Given the description of an element on the screen output the (x, y) to click on. 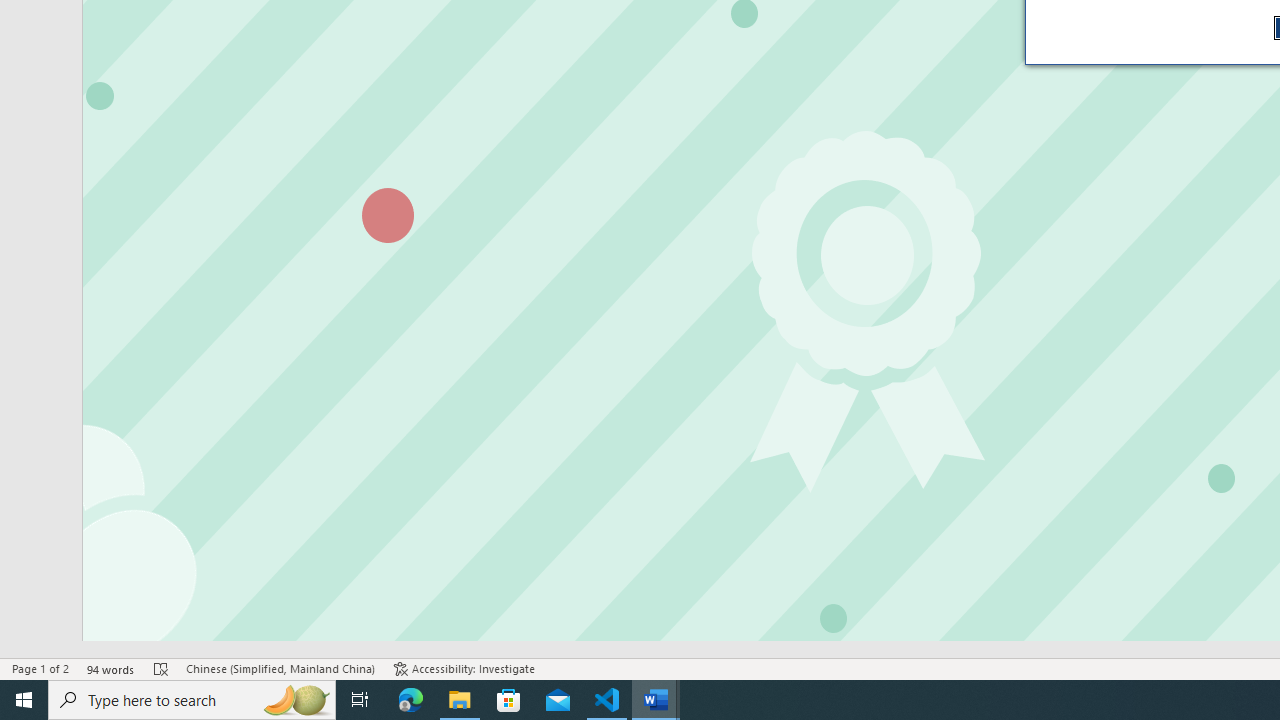
Word Count 94 words (111, 668)
Page Number Page 1 of 2 (39, 668)
